Given the description of an element on the screen output the (x, y) to click on. 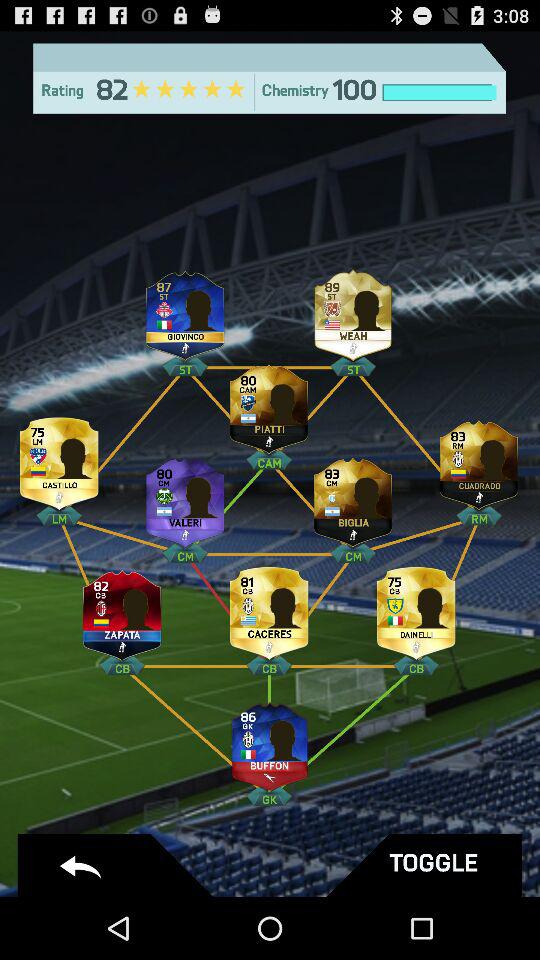
select player biglia (353, 497)
